Given the description of an element on the screen output the (x, y) to click on. 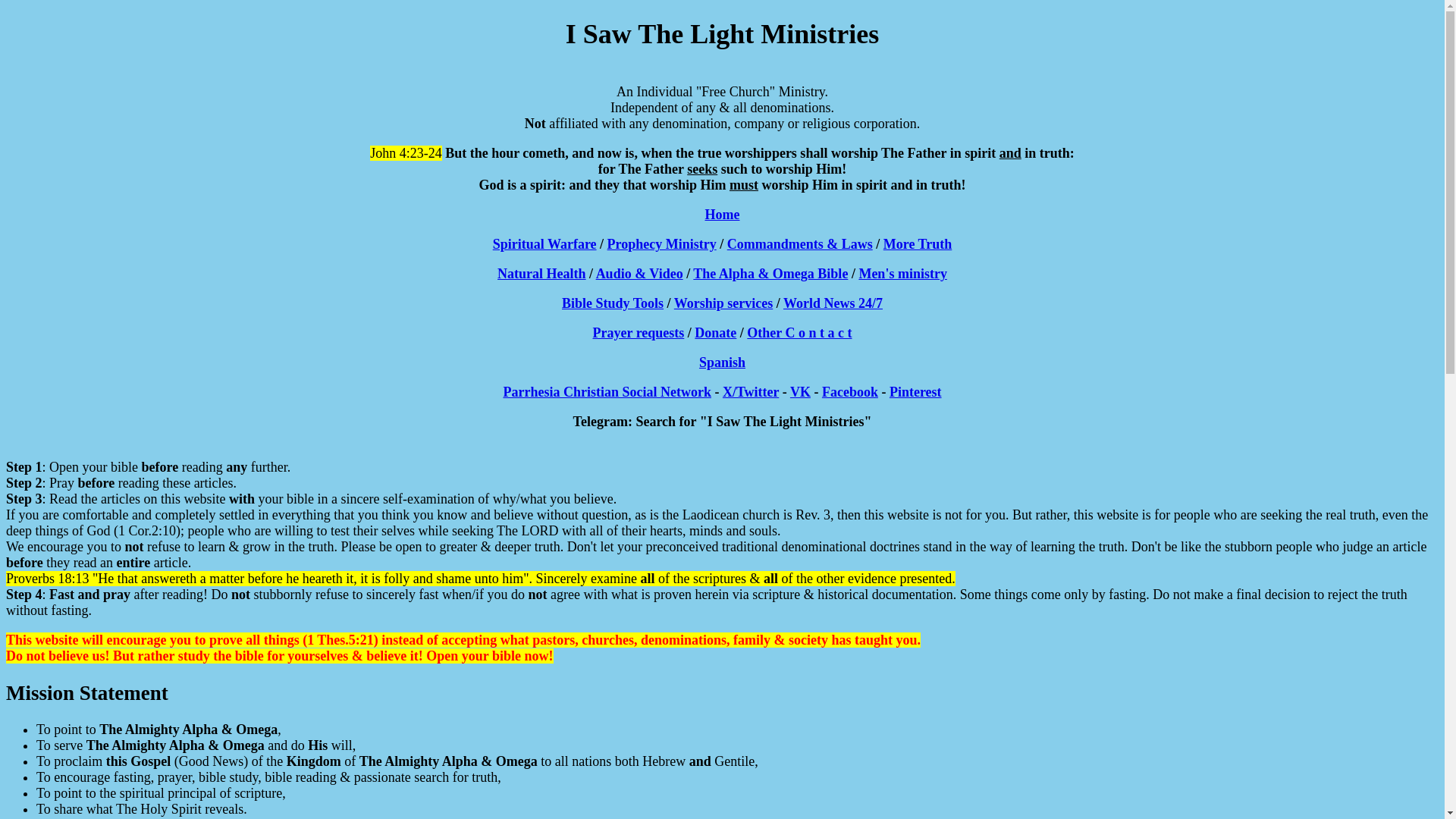
Men's ministry (903, 273)
Pinterest (915, 391)
More Truth (917, 243)
Spanish (721, 362)
Donate (715, 332)
Home (721, 214)
Natural Health (541, 273)
Other C o n t a c t (798, 332)
Parrhesia Christian Social Network (606, 391)
Spiritual Warfare (544, 243)
Bible Study Tools (612, 303)
Facebook (849, 391)
Worship services (723, 303)
Home (721, 214)
Prophecy Ministry (661, 243)
